Given the description of an element on the screen output the (x, y) to click on. 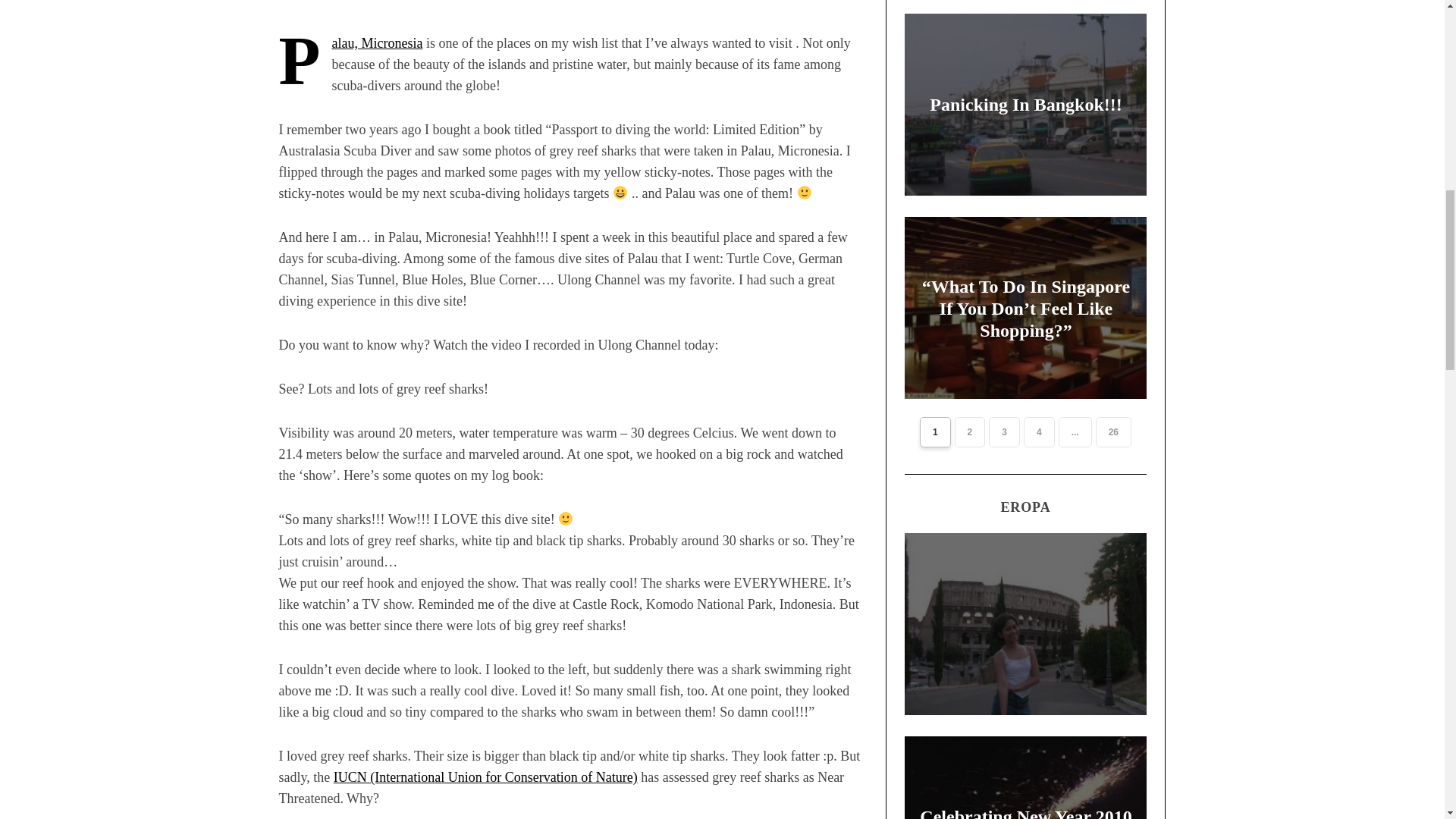
Palau, Micronesia (376, 43)
